Given the description of an element on the screen output the (x, y) to click on. 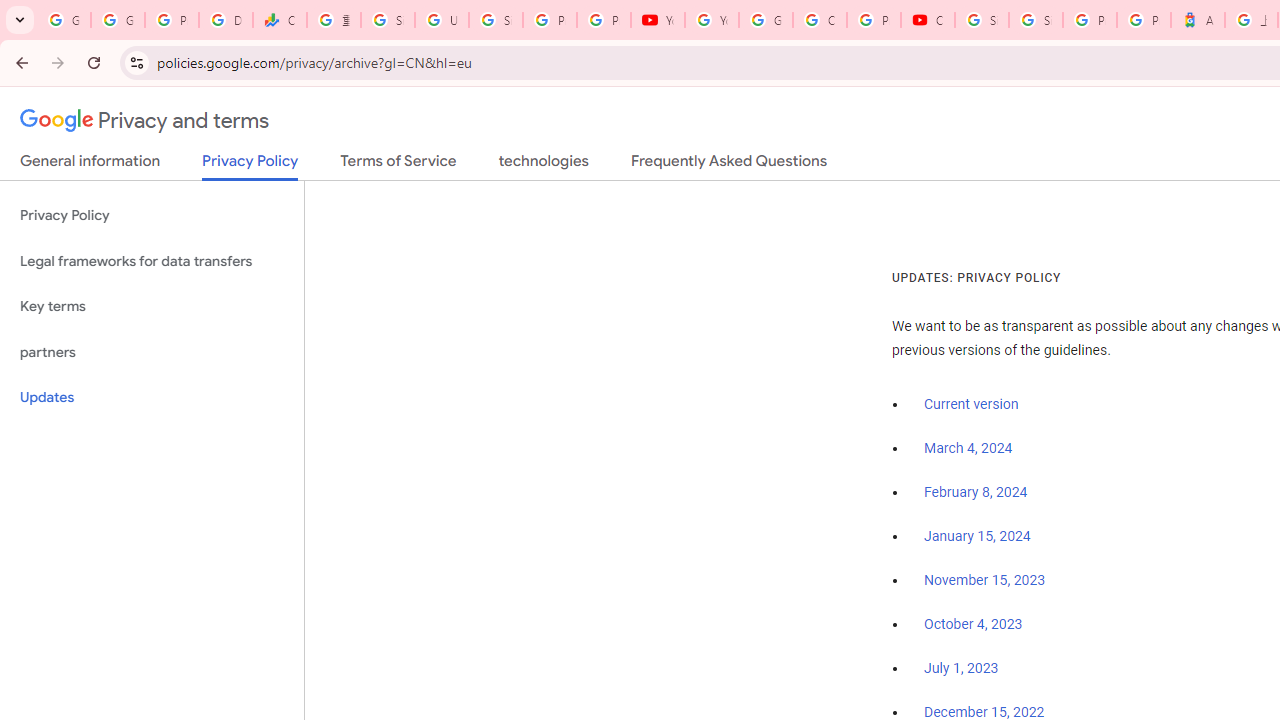
October 4, 2023 (973, 625)
Key terms (152, 306)
March 4, 2024 (968, 448)
Content Creator Programs & Opportunities - YouTube Creators (927, 20)
General information (90, 165)
February 8, 2024 (975, 492)
partners (152, 352)
YouTube (711, 20)
Create your Google Account (819, 20)
November 15, 2023 (984, 580)
